Given the description of an element on the screen output the (x, y) to click on. 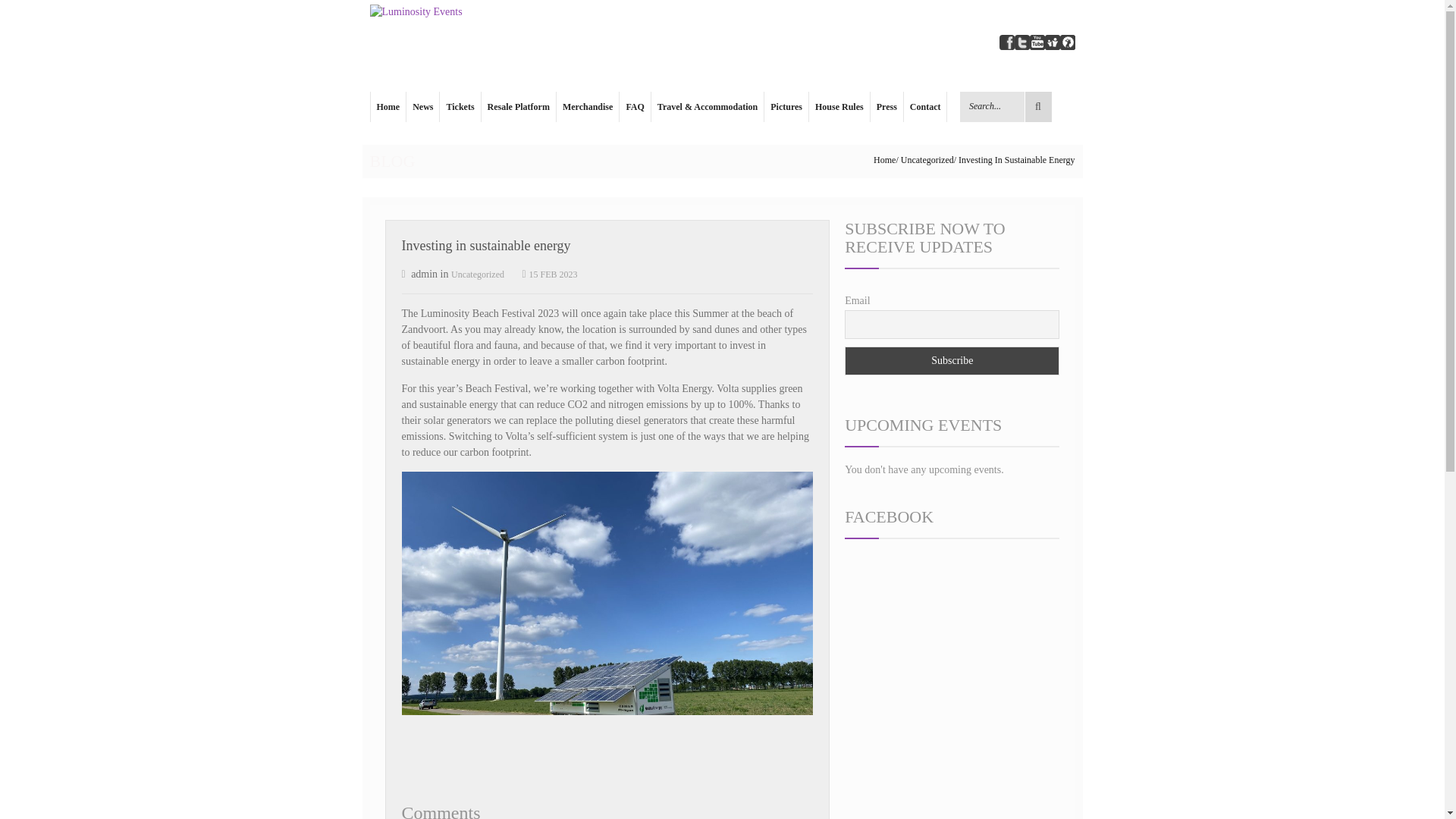
Home (884, 159)
Twitter (1021, 41)
Press (885, 106)
Subscribe (951, 360)
Merchandise (587, 106)
Youtube (1037, 41)
SeeYouDance (1067, 41)
Contact (924, 106)
Home (387, 106)
House Rules (838, 106)
